Given the description of an element on the screen output the (x, y) to click on. 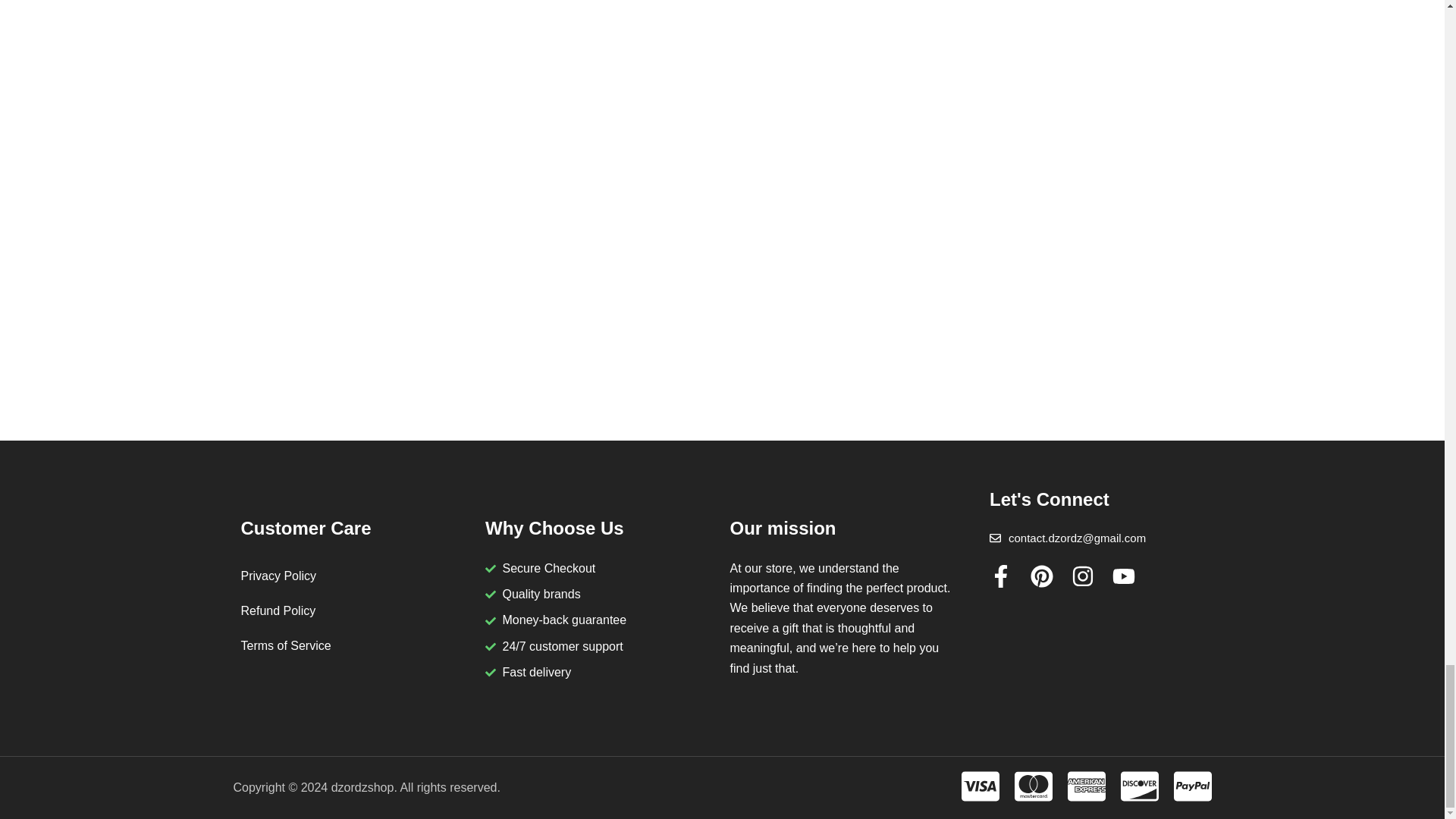
Privacy Policy (355, 575)
Refund Policy (355, 610)
Terms of Service (355, 645)
